Given the description of an element on the screen output the (x, y) to click on. 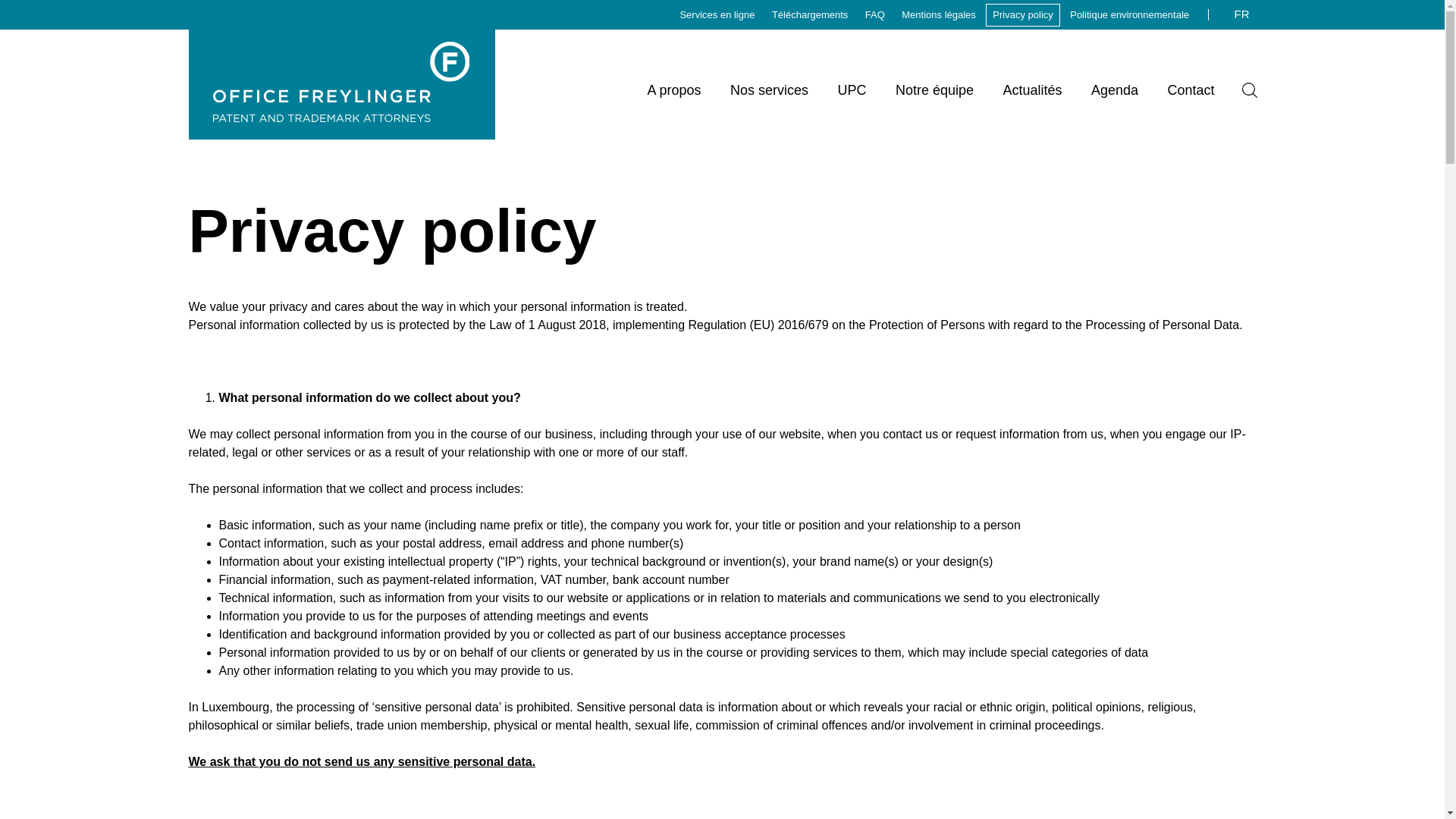
A propos (673, 89)
Services en ligne (716, 15)
Office Freylinger (340, 116)
Privacy policy (1022, 15)
Politique environnementale (1128, 15)
UPC (851, 89)
FAQ (875, 15)
Nos services (769, 89)
